Given the description of an element on the screen output the (x, y) to click on. 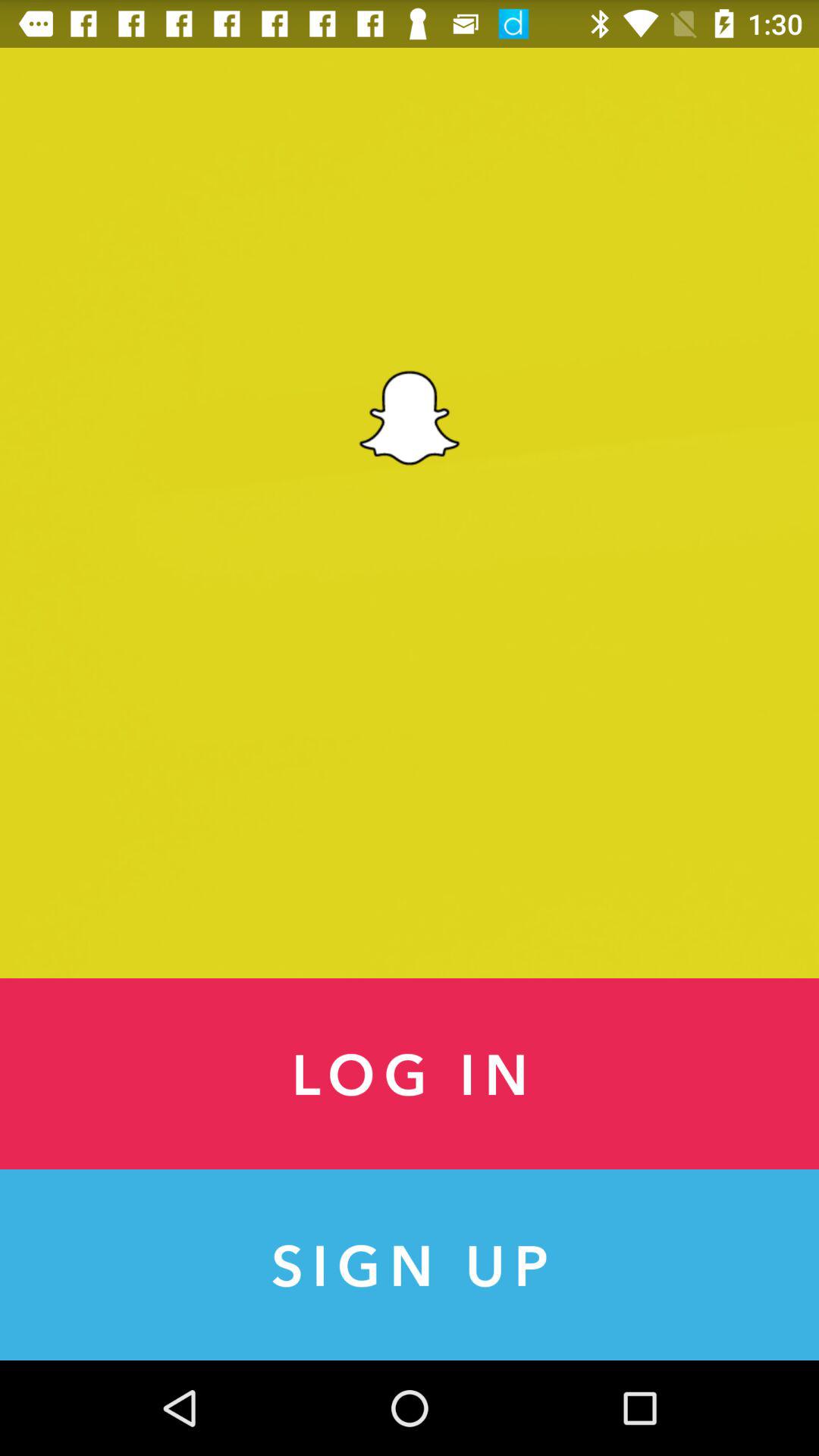
swipe until the sign up icon (409, 1264)
